Given the description of an element on the screen output the (x, y) to click on. 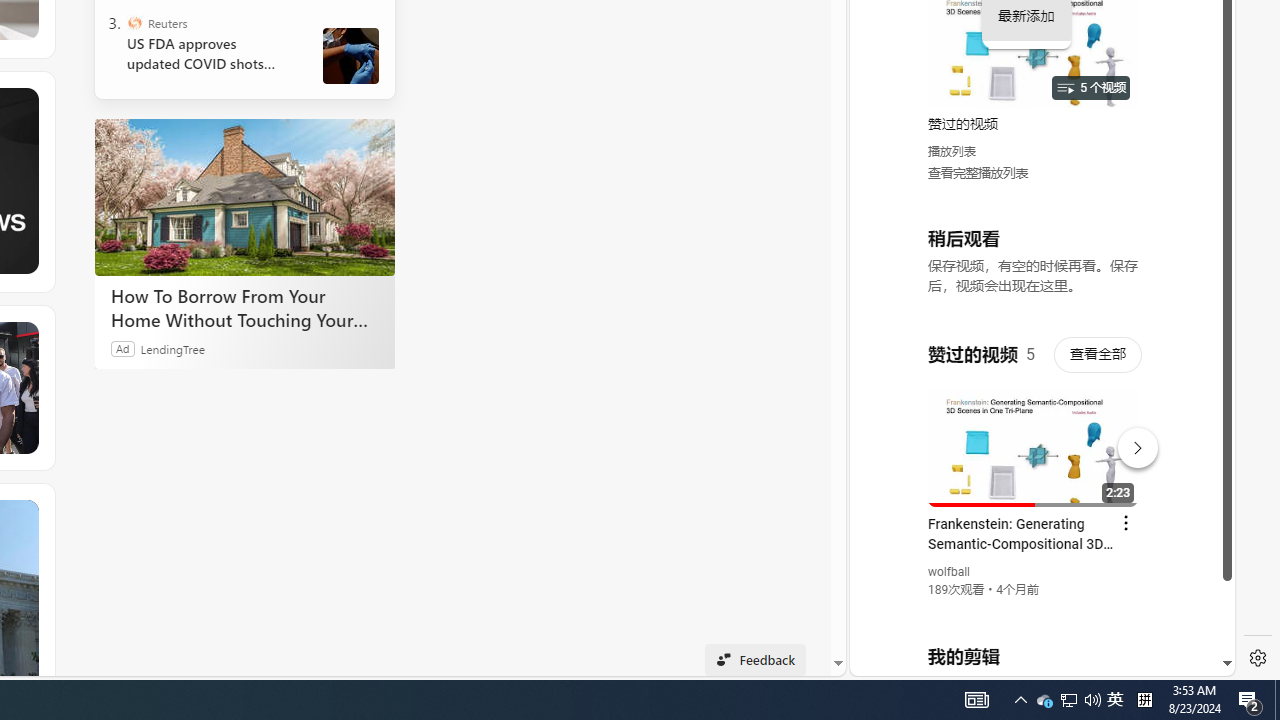
US[ju] (917, 660)
YouTube (1034, 432)
Class: dict_pnIcon rms_img (1028, 660)
LendingTree (172, 348)
US FDA approves updated COVID shots ahead of fall and winter (208, 53)
you (1034, 609)
YouTube - YouTube (1034, 266)
